Given the description of an element on the screen output the (x, y) to click on. 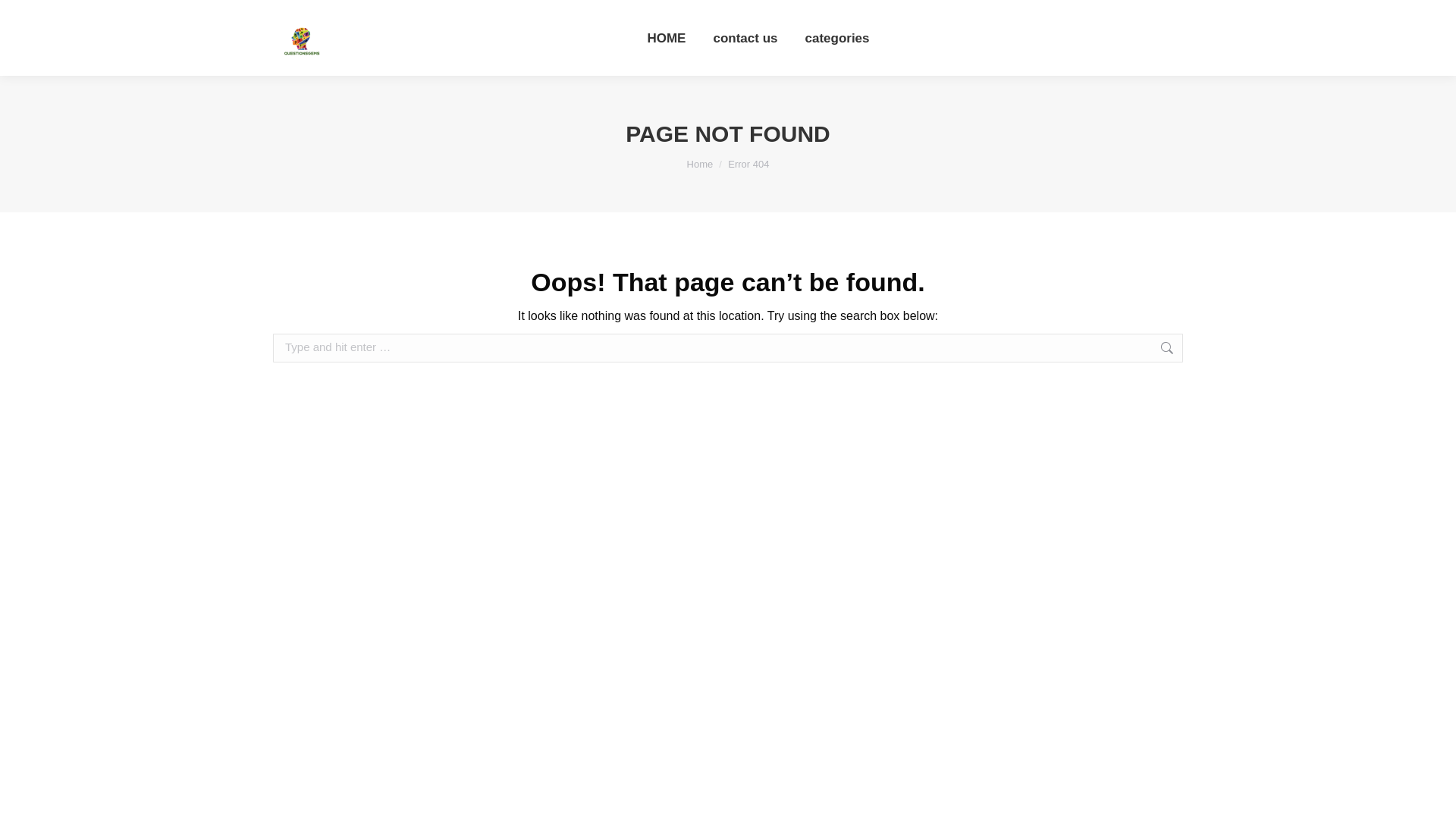
categories (837, 37)
contact us (745, 37)
Home (700, 163)
Go! (1206, 349)
Go! (1206, 349)
Home (700, 163)
HOME (665, 37)
Go! (1206, 349)
